Given the description of an element on the screen output the (x, y) to click on. 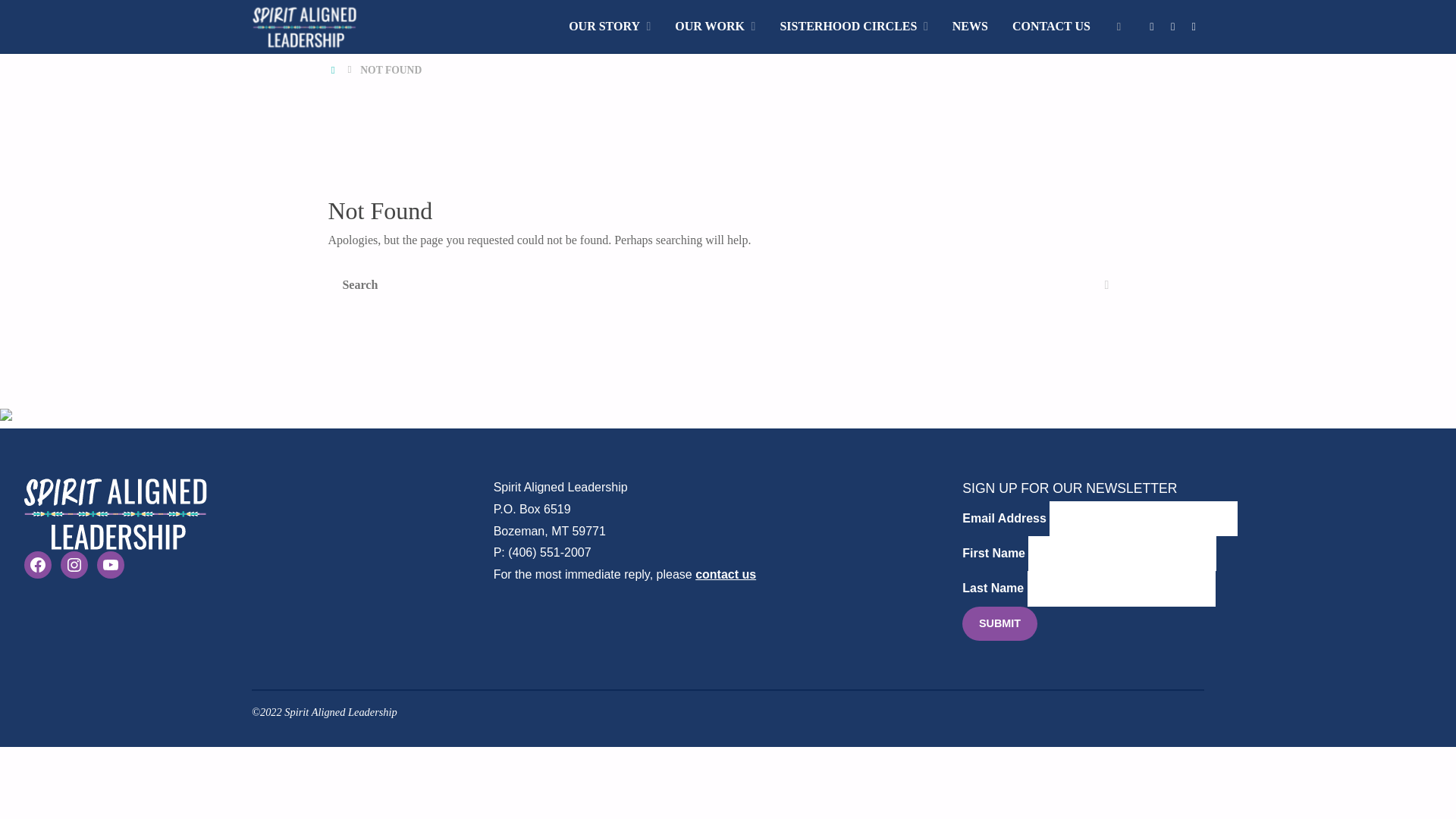
Spirit Aligned Leadership (303, 25)
Instagram (1172, 26)
Skip to content (567, 63)
Skip to content (567, 63)
SISTERHOOD CIRCLES (853, 26)
Home (333, 70)
SUBMIT (999, 623)
Facebook (1151, 26)
OUR WORK (714, 26)
OUR STORY (609, 26)
SPIRIT ALIGNED LEADERSHIP (408, 33)
YouTube (1193, 26)
